Given the description of an element on the screen output the (x, y) to click on. 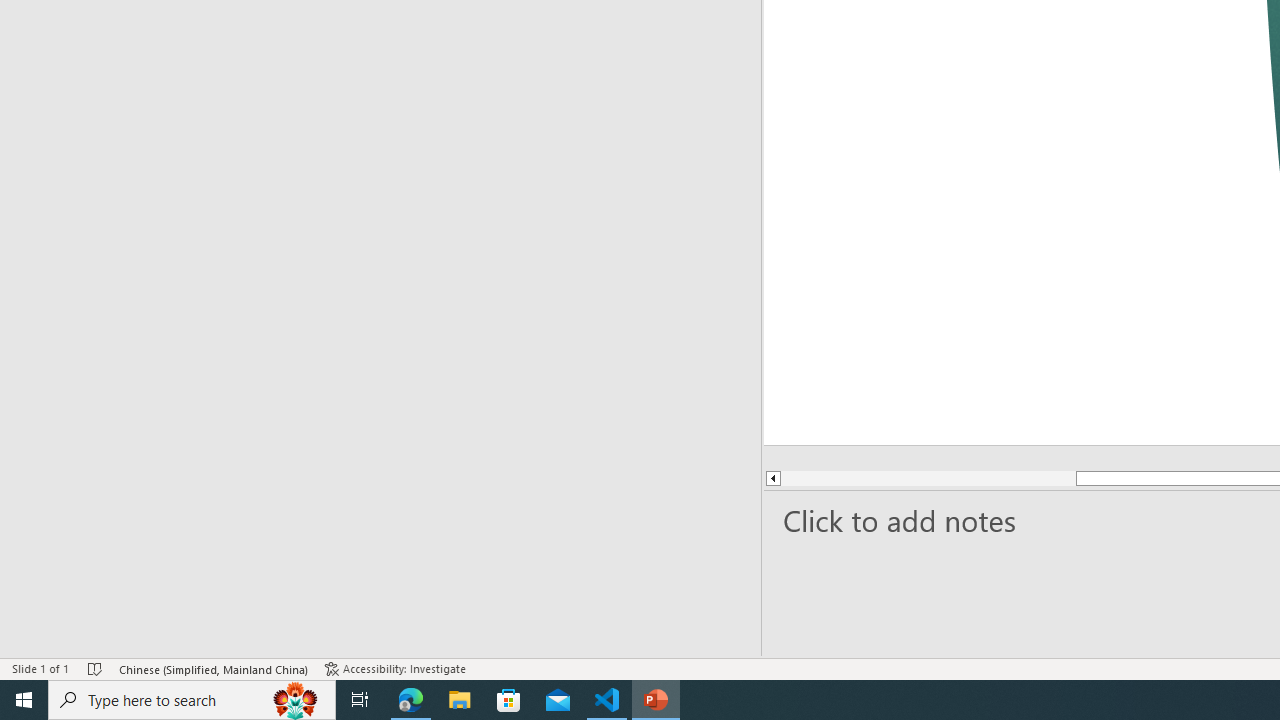
Accessibility Checker Accessibility: Good to go (630, 640)
AutomationID: BadgeAnchorLargeTicker (46, 686)
Spelling and Grammar Check Checking (216, 640)
AutomationID: DynamicSearchBoxGleamImage (1138, 687)
Word Count 0 words (149, 640)
Page Number Page 1 of 1 (55, 640)
Language Chinese (Simplified, Mainland China) (378, 640)
